Given the description of an element on the screen output the (x, y) to click on. 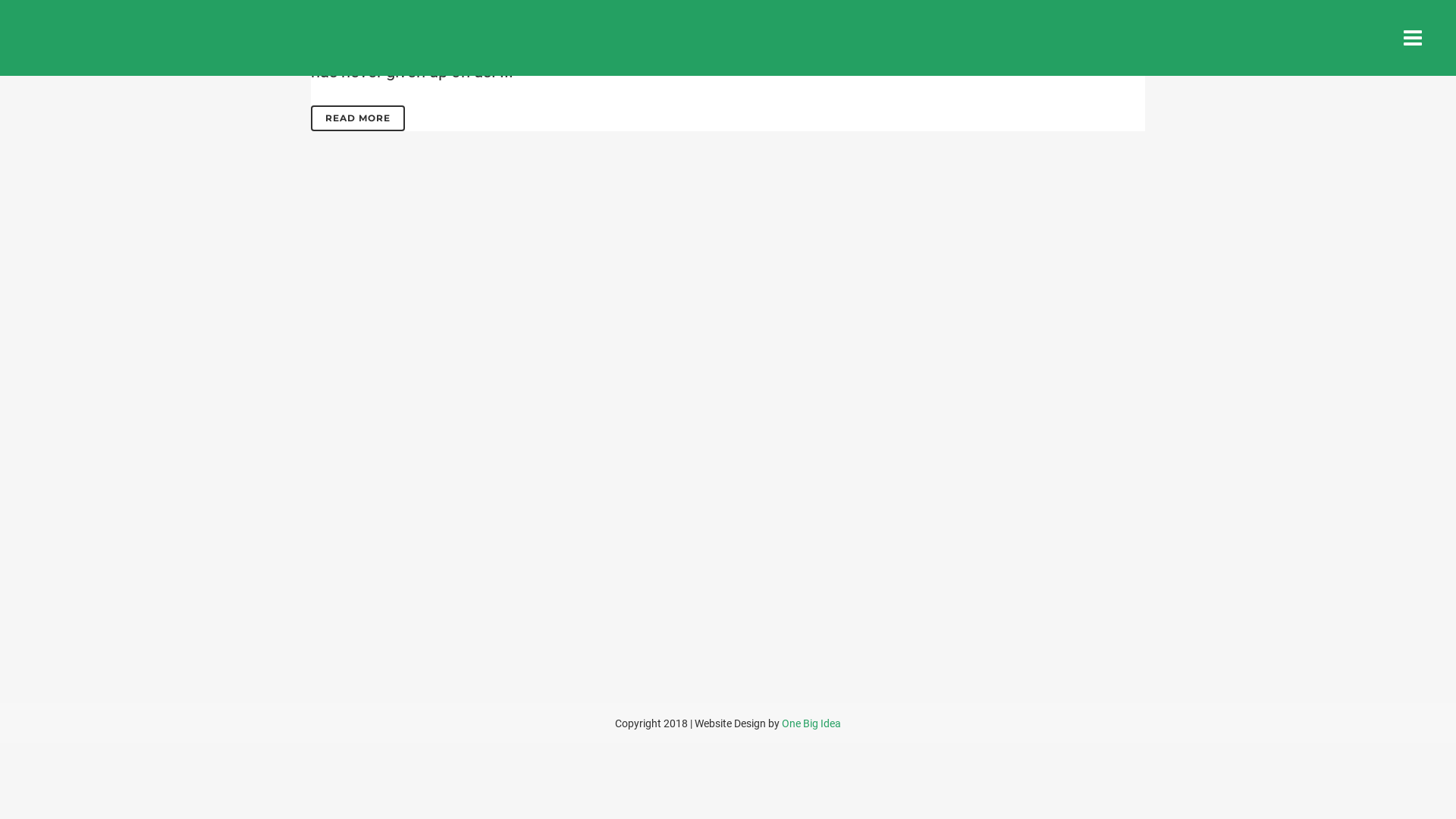
Faith. Love. Hope. Element type: text (445, 19)
READ MORE Element type: text (357, 118)
One Big Idea Element type: text (810, 723)
